Given the description of an element on the screen output the (x, y) to click on. 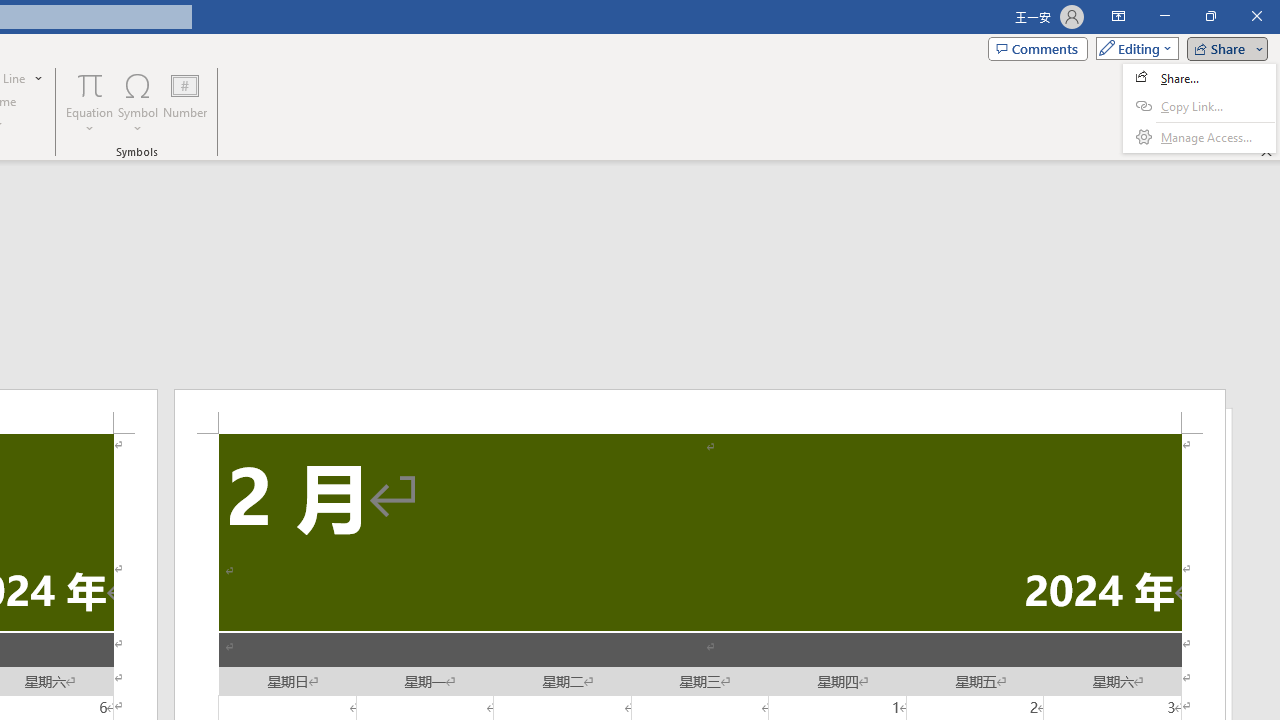
Symbol (138, 102)
Number... (185, 102)
Header -Section 2- (700, 411)
